Given the description of an element on the screen output the (x, y) to click on. 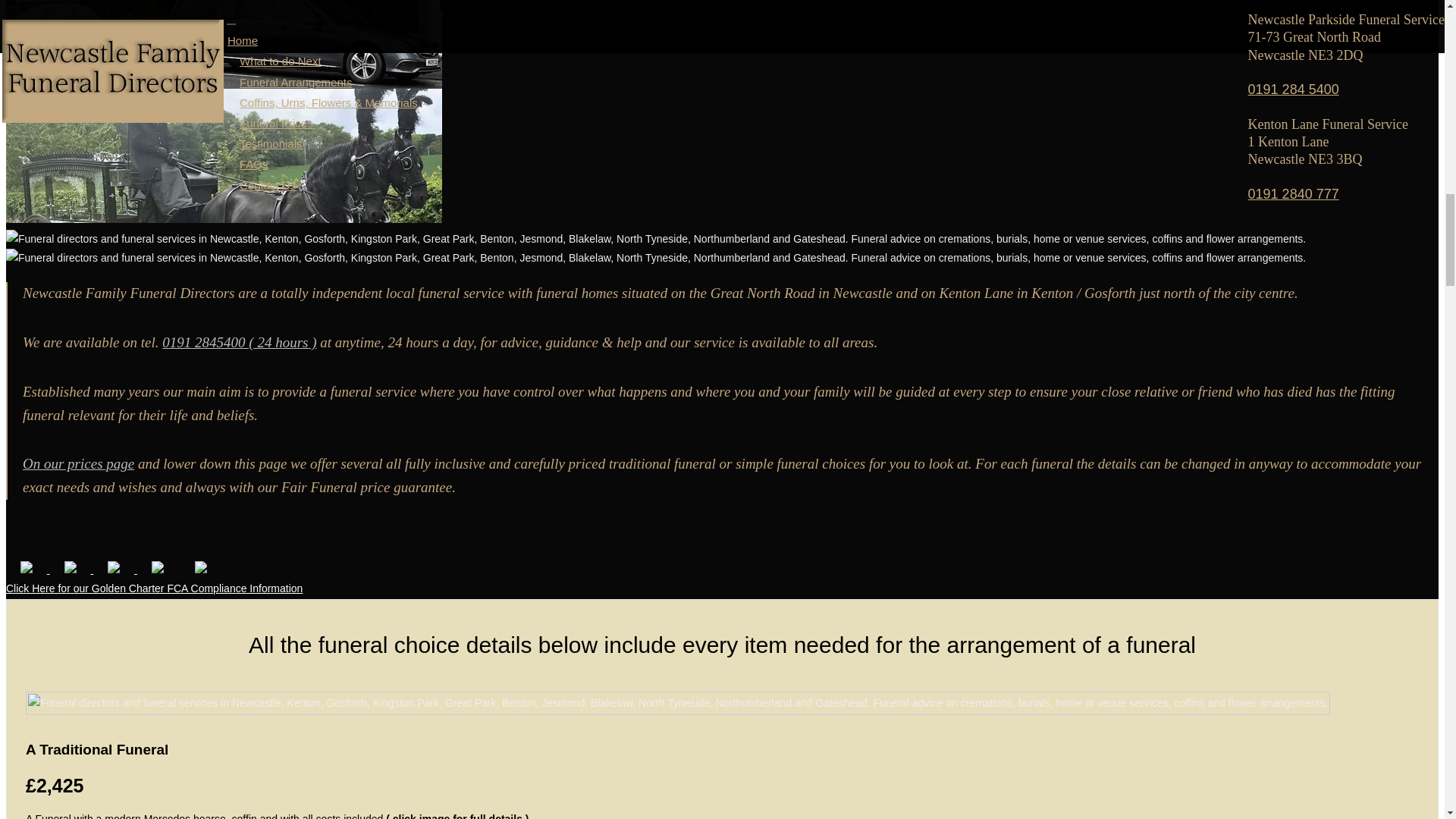
On our prices page (78, 463)
Click Here for our Golden Charter FCA Compliance Information (153, 589)
